Given the description of an element on the screen output the (x, y) to click on. 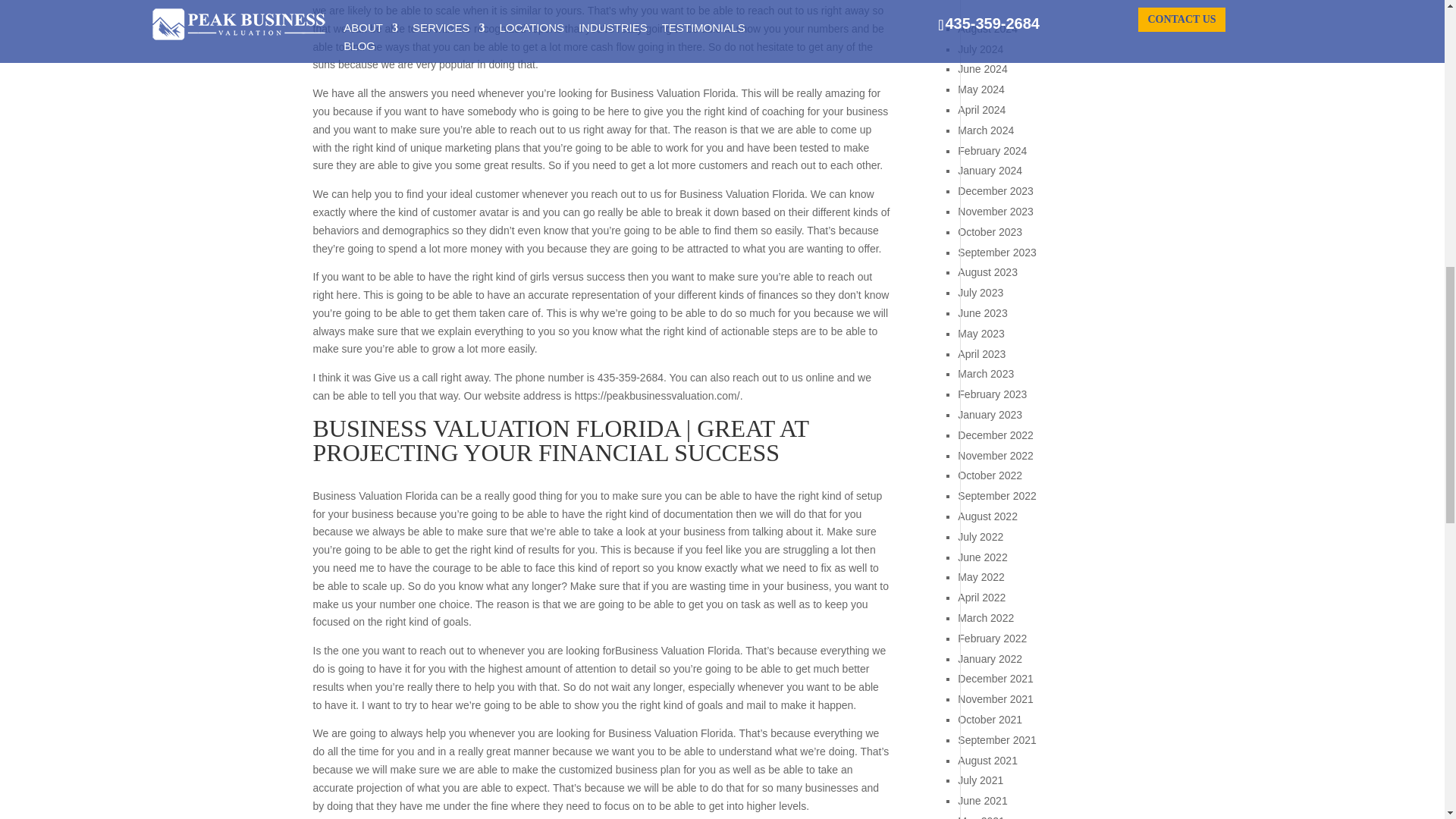
July 2024 (980, 49)
March 2024 (985, 130)
August 2024 (987, 28)
April 2024 (982, 110)
May 2024 (981, 89)
February 2024 (992, 150)
June 2024 (982, 69)
